Given the description of an element on the screen output the (x, y) to click on. 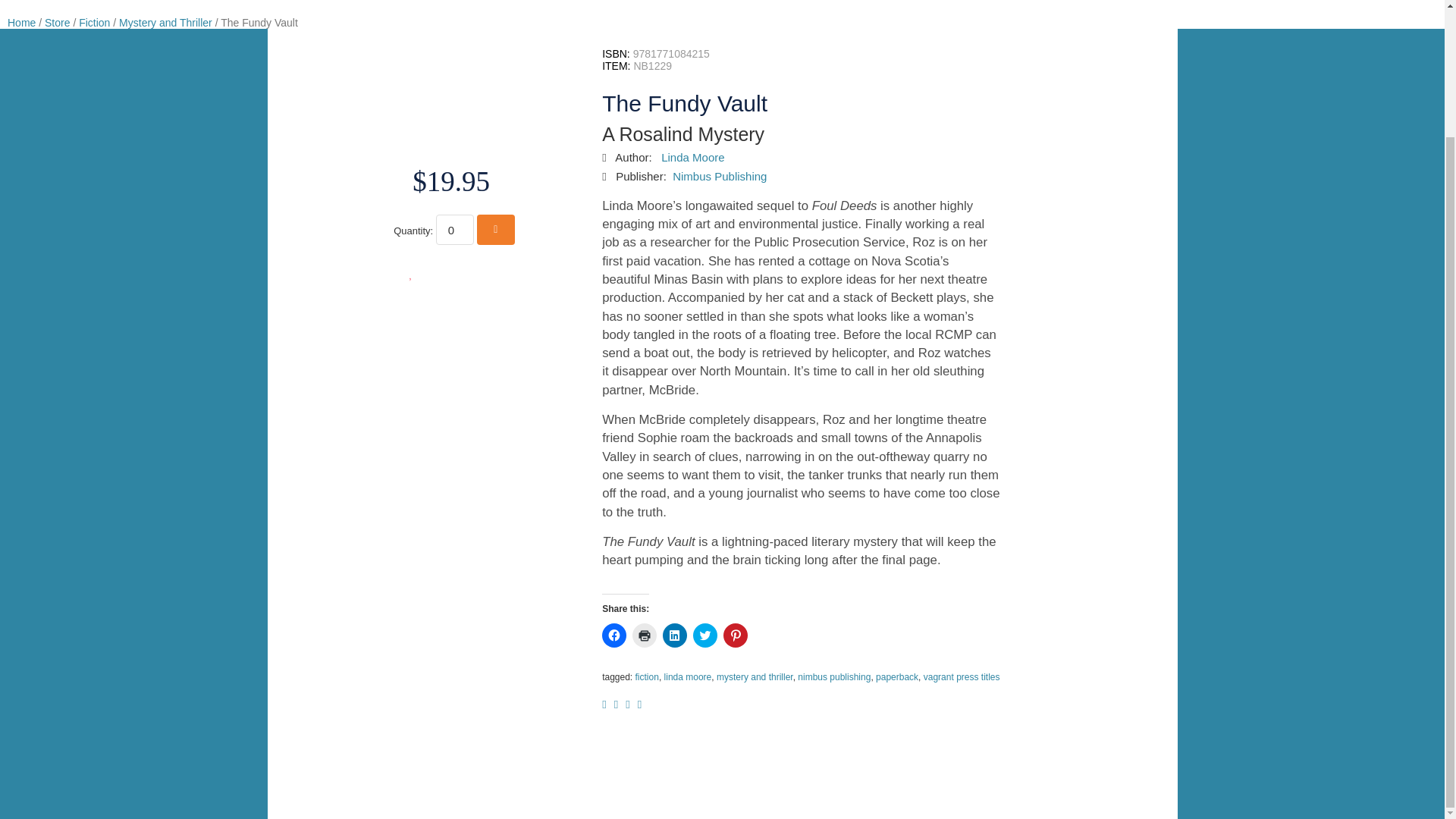
0 (454, 229)
